Given the description of an element on the screen output the (x, y) to click on. 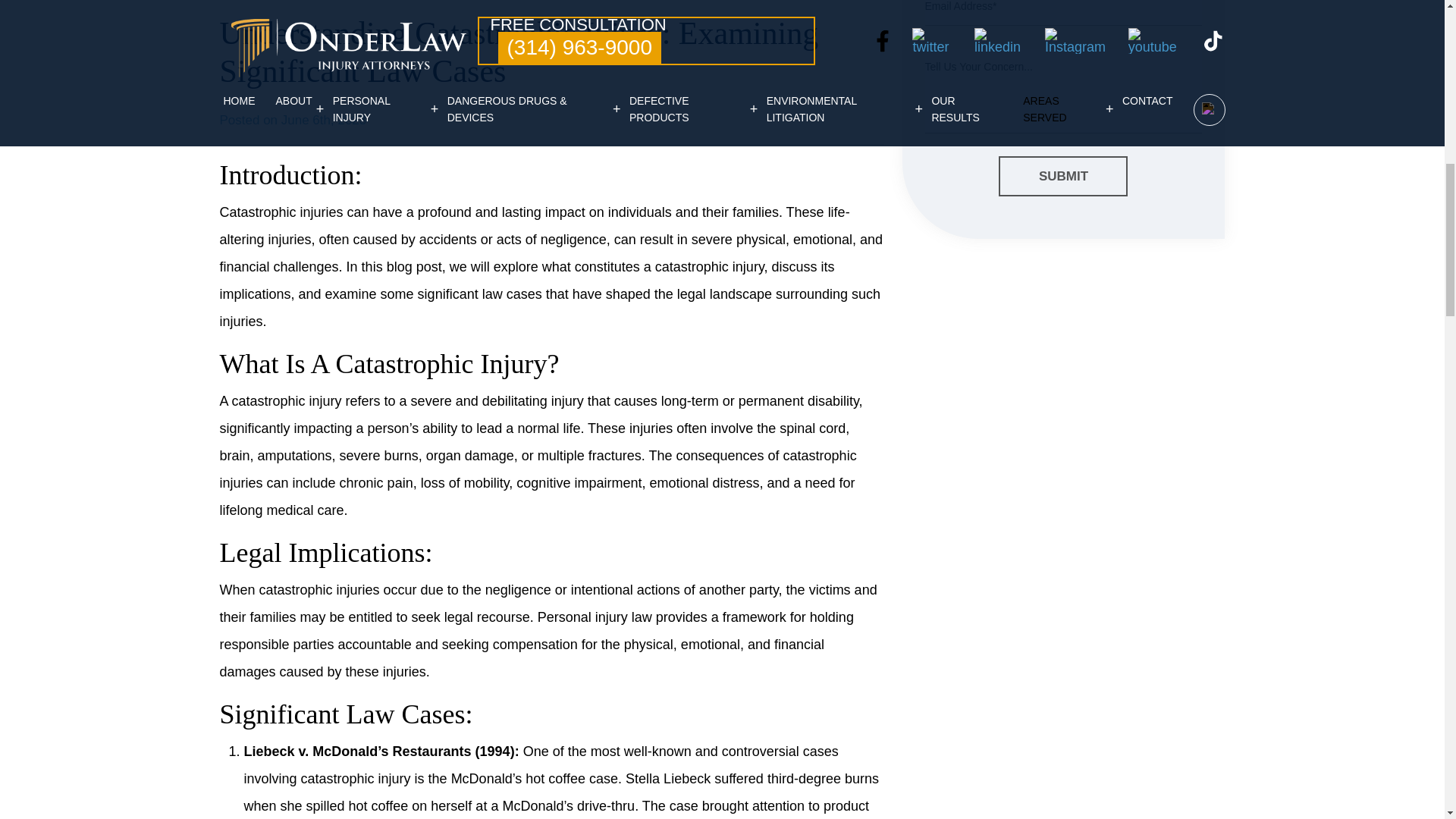
Submit (1062, 176)
